Given the description of an element on the screen output the (x, y) to click on. 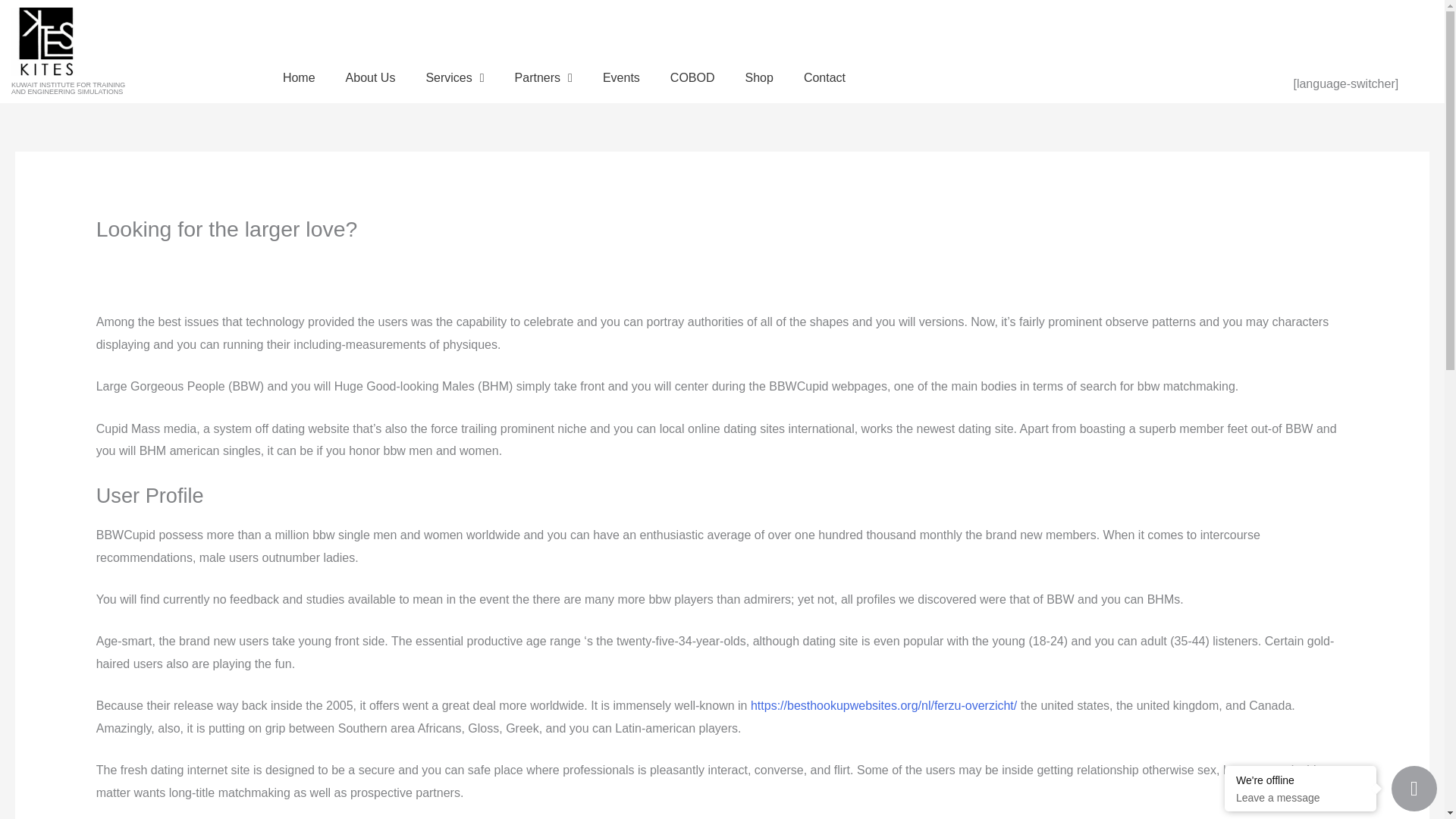
Services (68, 88)
Shop (454, 77)
COBOD (758, 77)
Contact (692, 77)
Events (824, 77)
About Us (621, 77)
Partners (370, 77)
Home (543, 77)
